Given the description of an element on the screen output the (x, y) to click on. 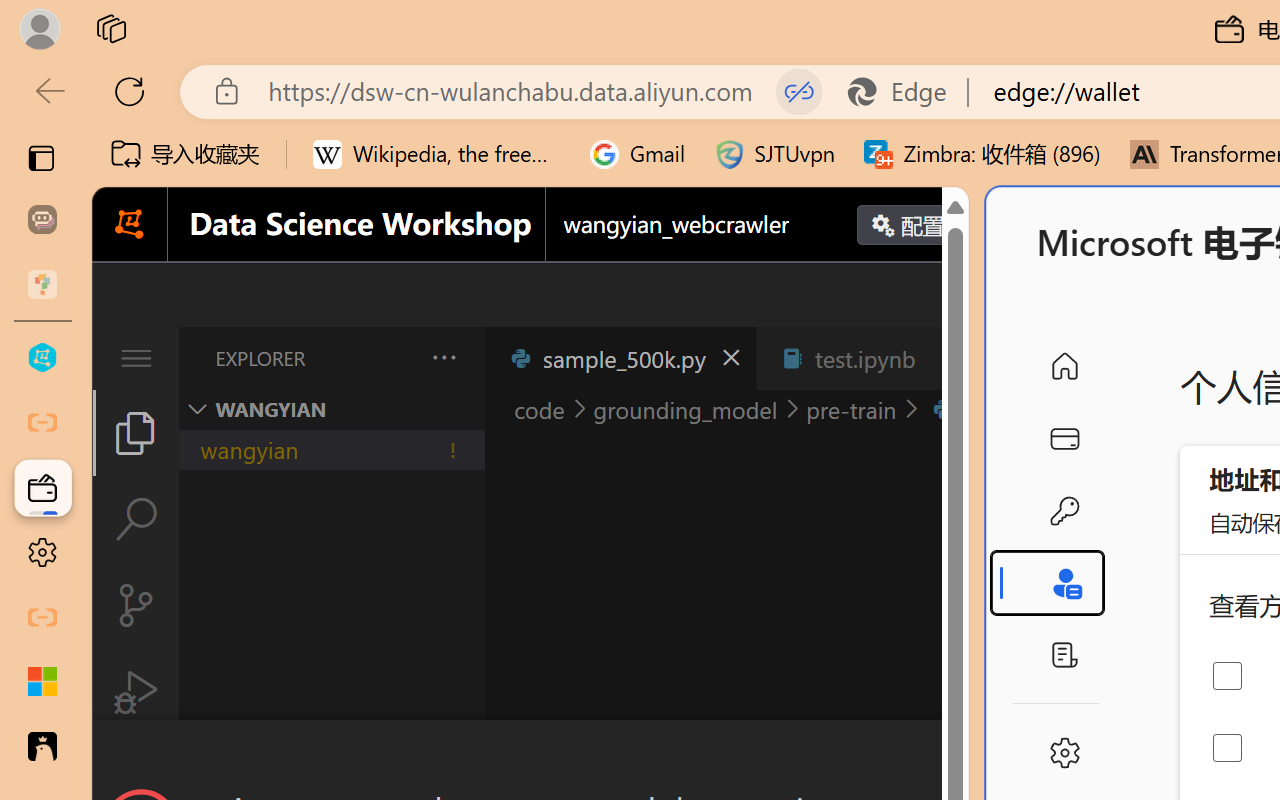
Wikipedia, the free encyclopedia (437, 154)
Explorer (Ctrl+Shift+E) (135, 432)
Adjust indents and spacing - Microsoft Support (42, 681)
Edge (905, 91)
wangyian_dsw - DSW (42, 357)
